Given the description of an element on the screen output the (x, y) to click on. 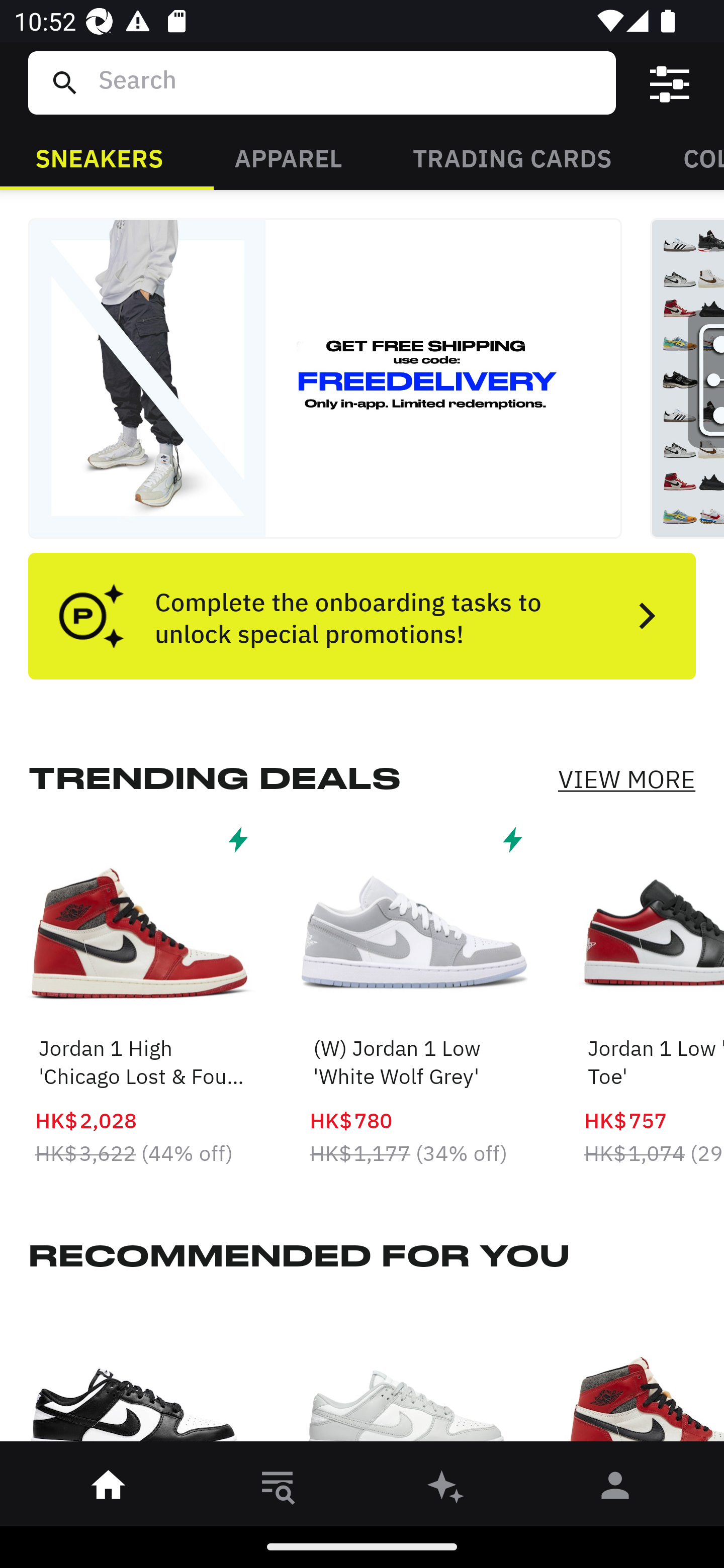
Search (349, 82)
 (669, 82)
SNEAKERS (99, 156)
APPAREL (287, 156)
TRADING CARDS (512, 156)
VIEW MORE (626, 779)
󰋜 (108, 1488)
󱎸 (277, 1488)
󰫢 (446, 1488)
󰀄 (615, 1488)
